Given the description of an element on the screen output the (x, y) to click on. 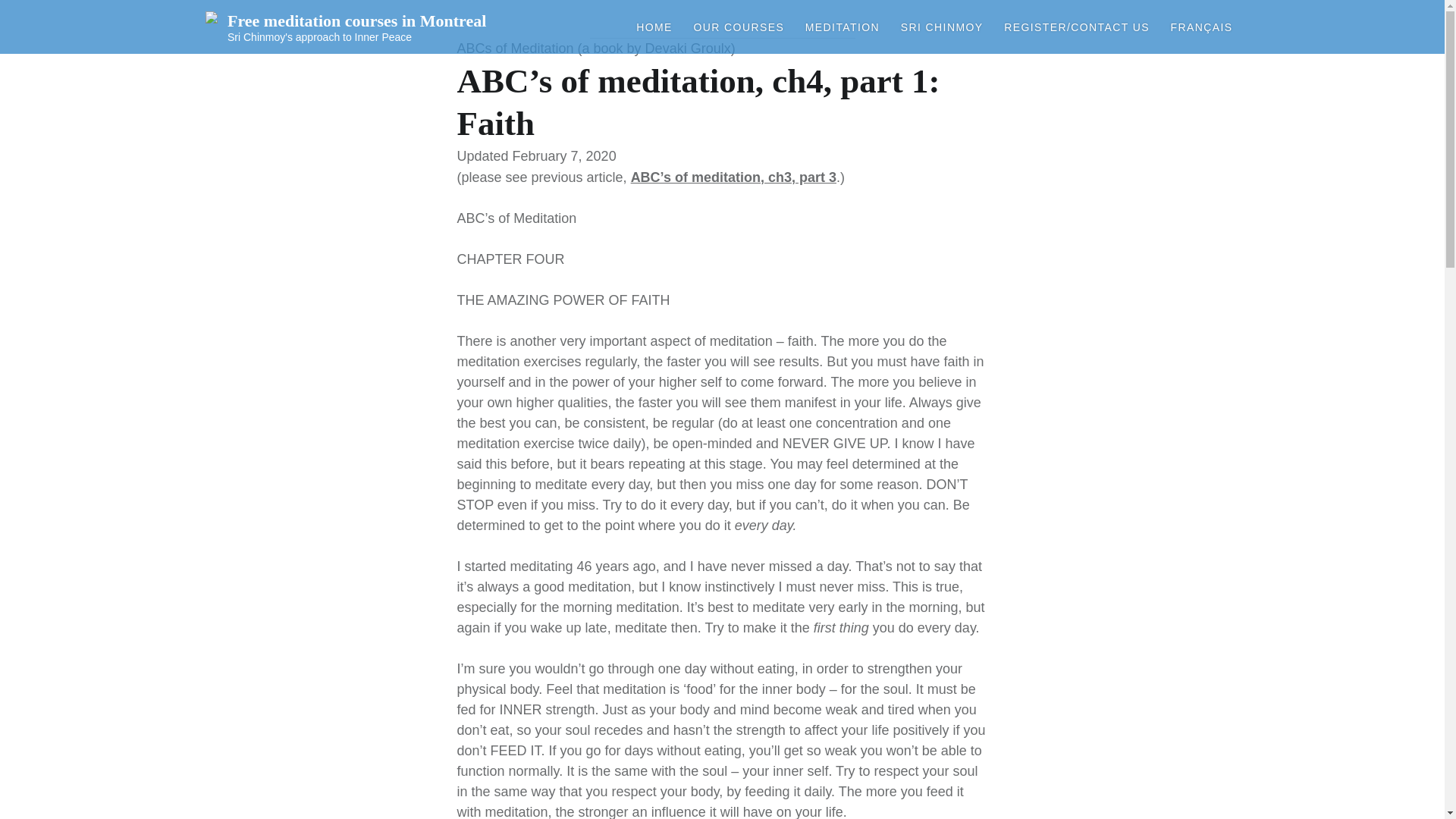
MEDITATION (841, 27)
HOME (654, 27)
OUR COURSES (738, 27)
SRI CHINMOY (941, 27)
